Given the description of an element on the screen output the (x, y) to click on. 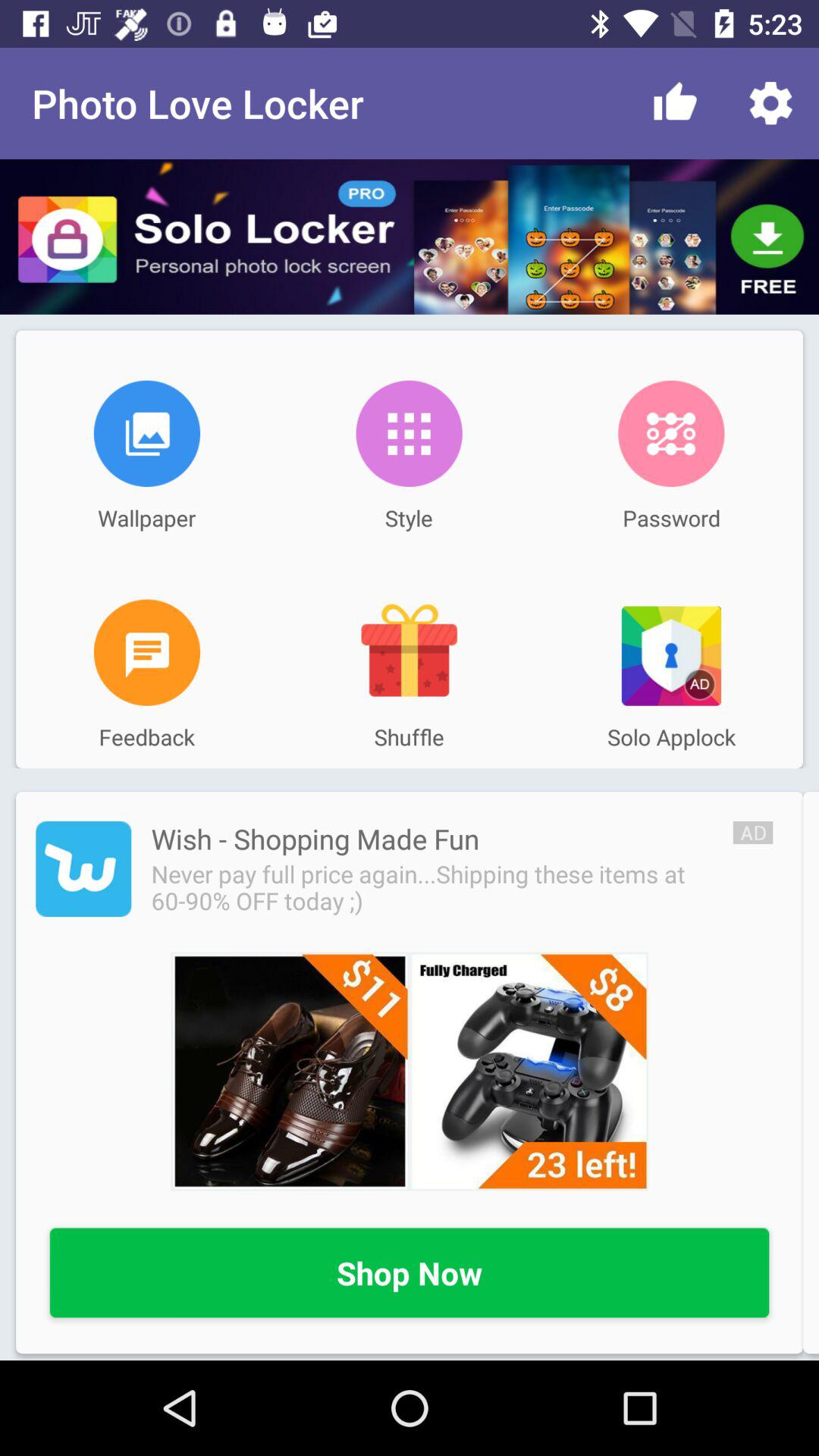
tap the icon below feedback item (315, 838)
